Given the description of an element on the screen output the (x, y) to click on. 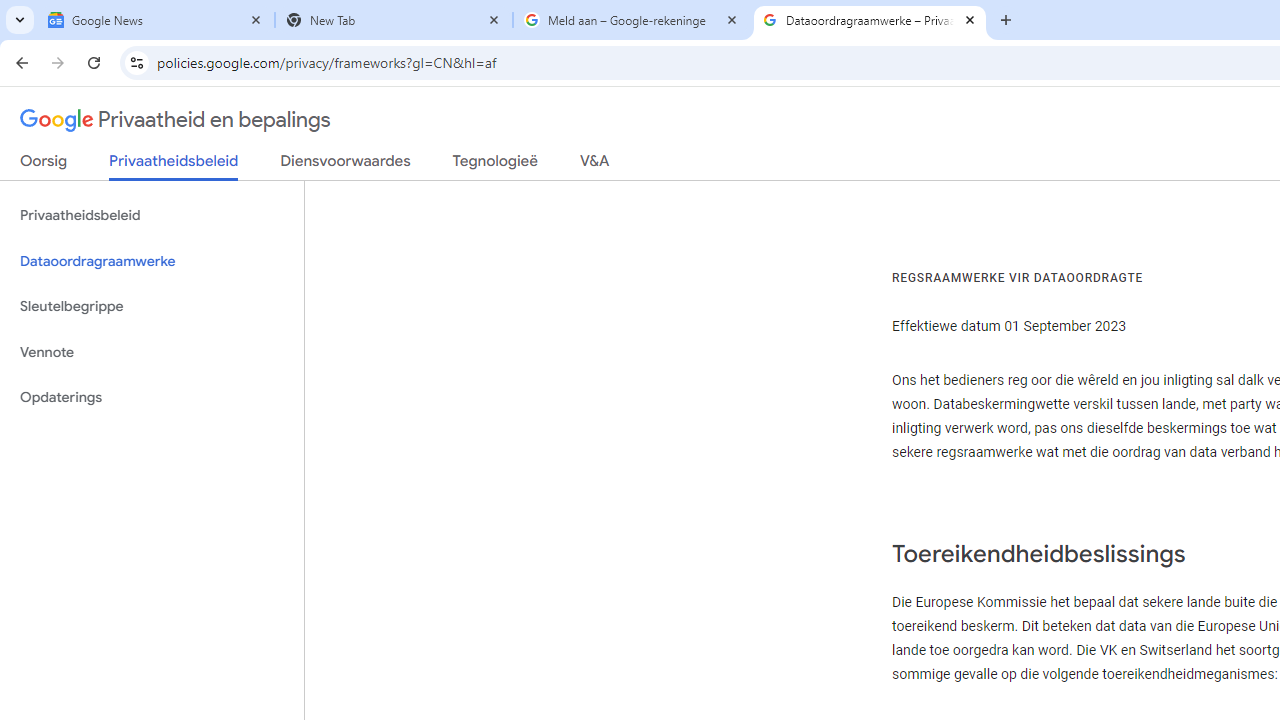
V&A (594, 165)
Opdaterings (152, 398)
Privaatheidsbeleid (152, 215)
Vennote (152, 352)
New Tab (394, 20)
Oorsig (43, 165)
